Given the description of an element on the screen output the (x, y) to click on. 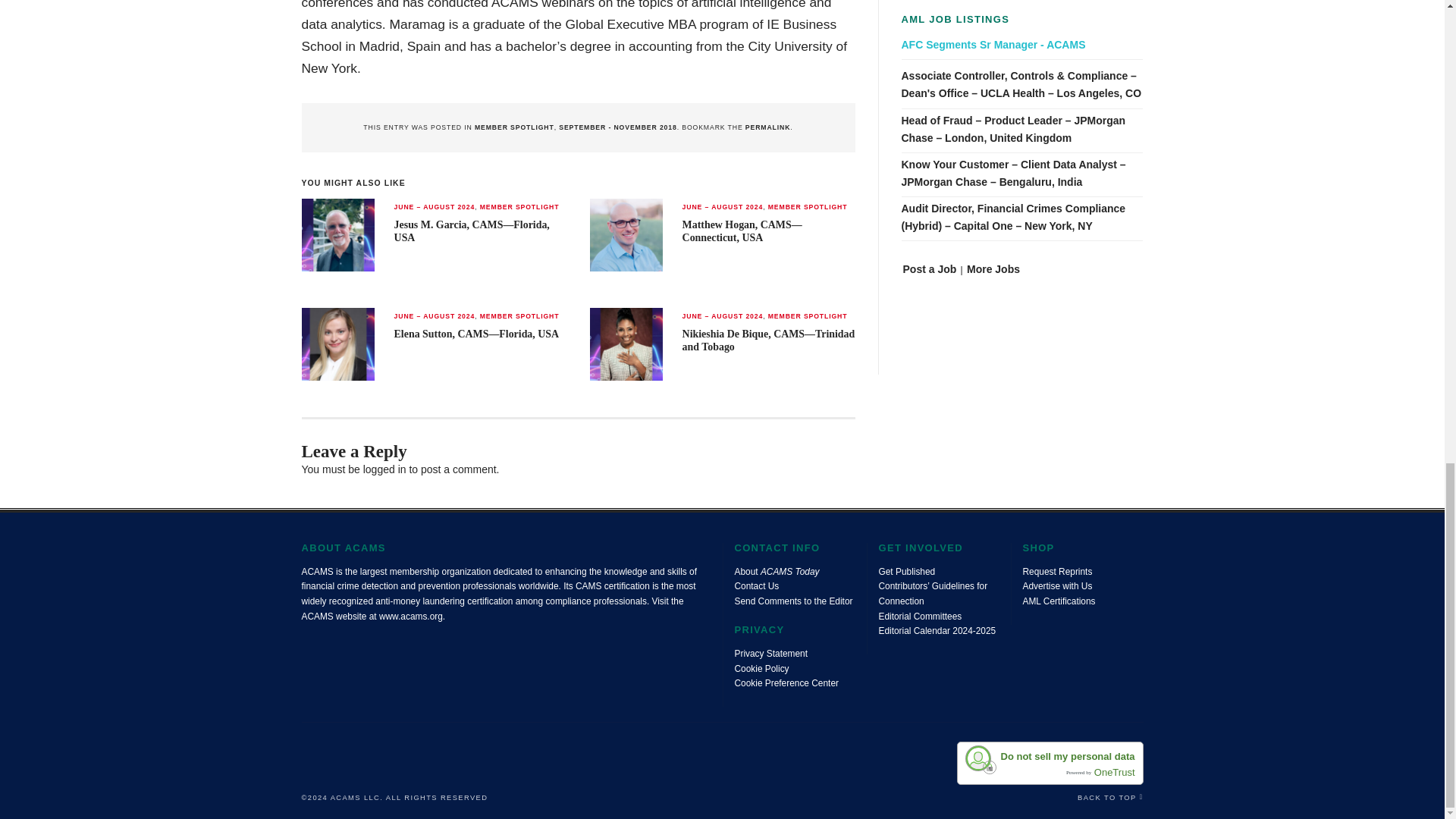
AFC Segments Sr Manager - ACAMS (1021, 45)
